Given the description of an element on the screen output the (x, y) to click on. 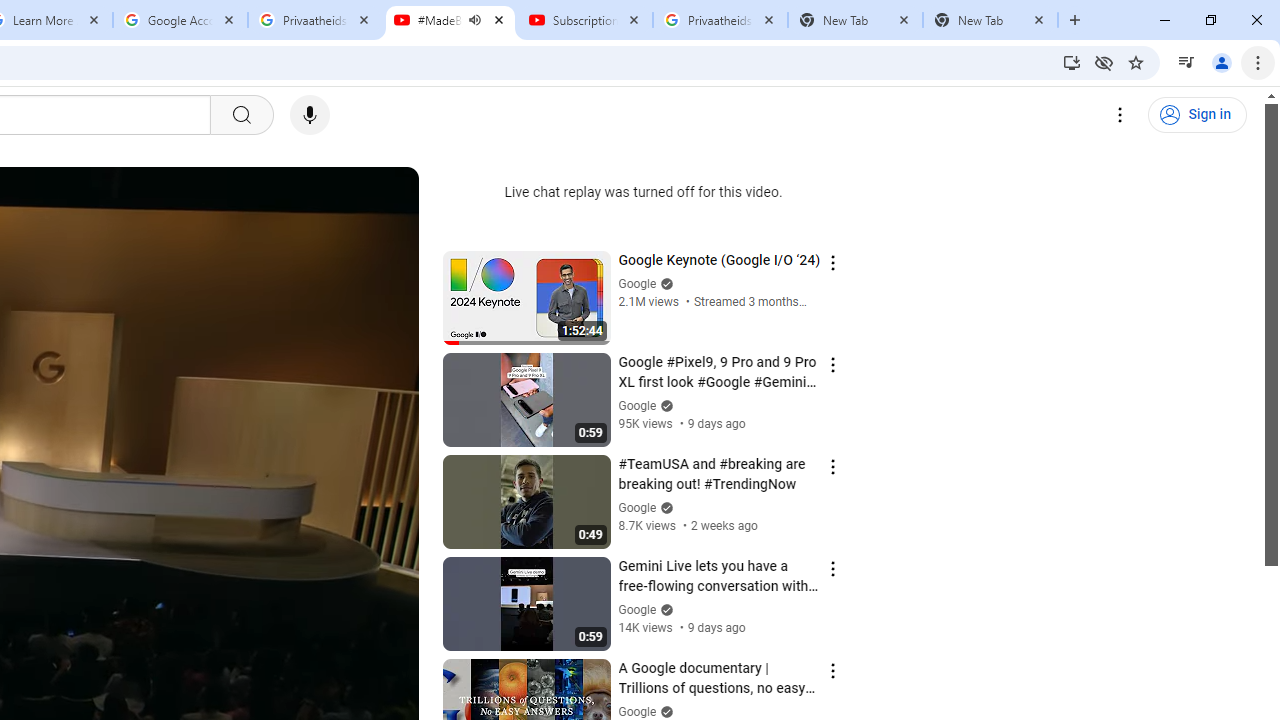
Install YouTube (1071, 62)
Settings (1119, 115)
Verified (664, 711)
Subscriptions - YouTube (585, 20)
Search (240, 115)
Third-party cookies blocked (1103, 62)
Action menu (832, 670)
